Given the description of an element on the screen output the (x, y) to click on. 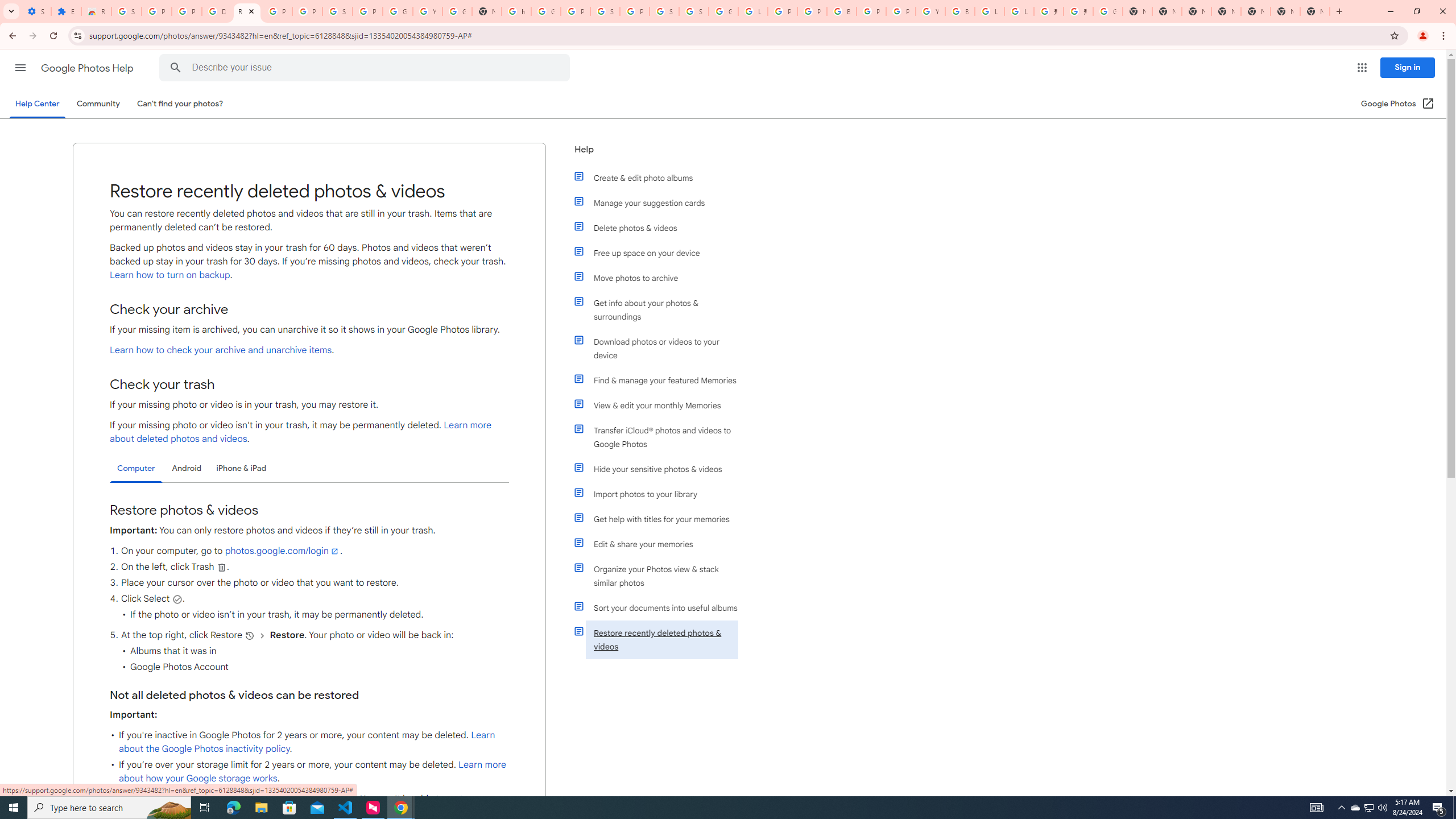
Learn more about deleted photos and videos (300, 431)
Describe your issue (366, 67)
Learn how to check your archive and unarchive items (220, 350)
Manage your suggestion cards (661, 202)
Settings - On startup (36, 11)
Import photos to your library (661, 493)
Edit & share your memories (661, 543)
Move photos to archive (661, 277)
